Given the description of an element on the screen output the (x, y) to click on. 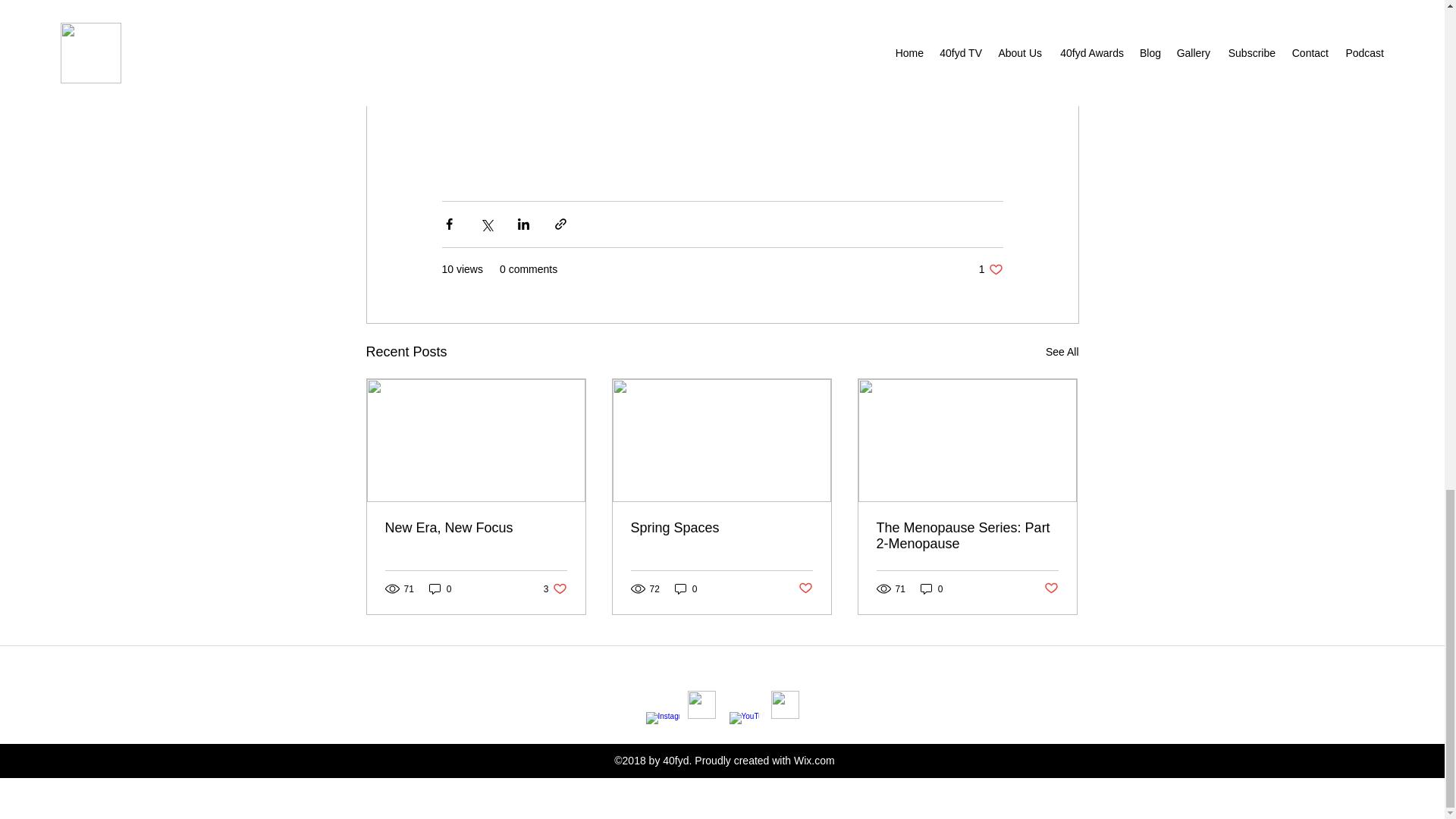
Post not marked as liked (1050, 588)
Post not marked as liked (804, 588)
0 (990, 269)
The Menopause Series: Part 2-Menopause (931, 588)
0 (967, 536)
New Era, New Focus (440, 588)
See All (555, 588)
Spring Spaces (476, 528)
